Given the description of an element on the screen output the (x, y) to click on. 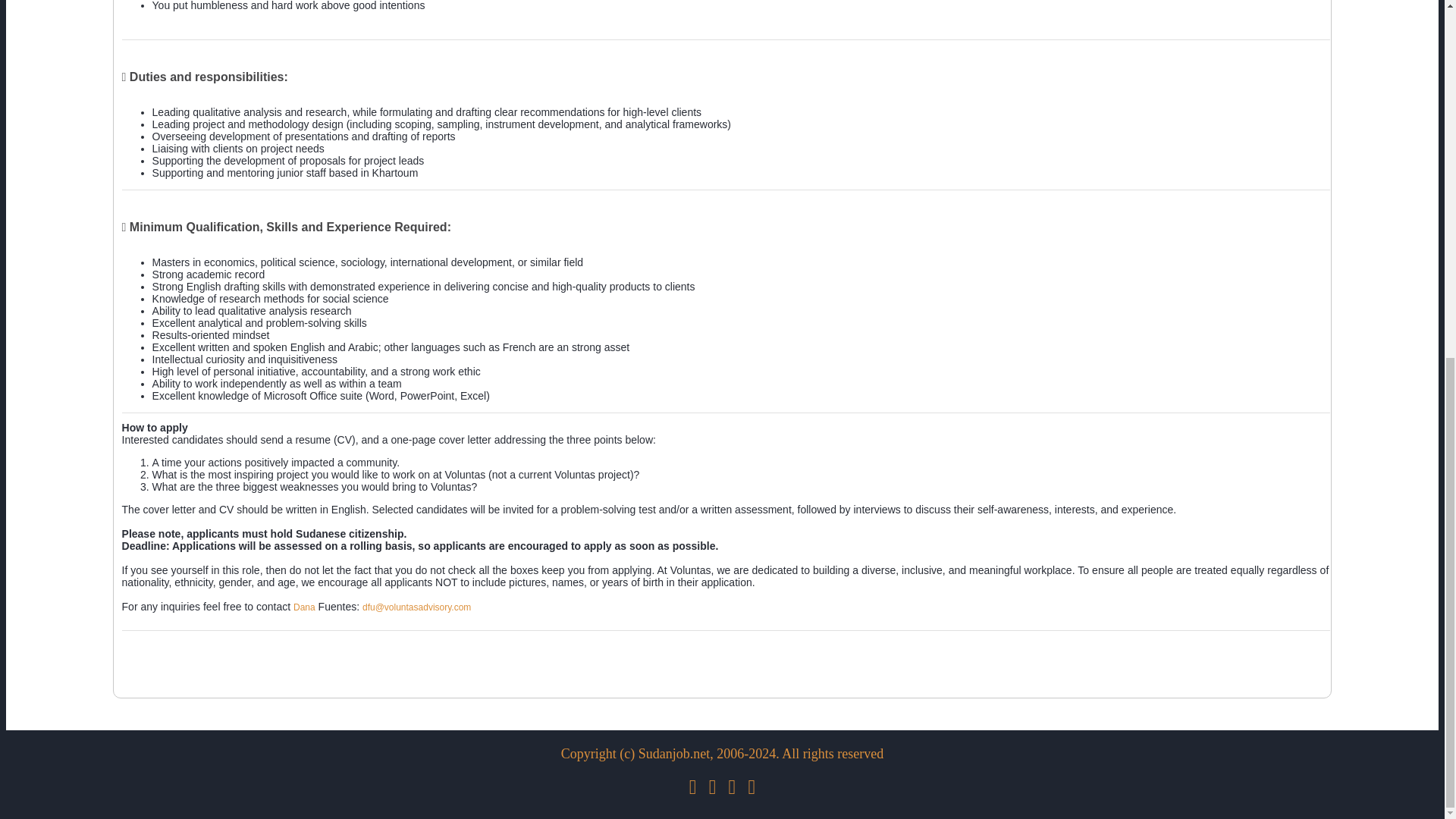
Dana (304, 606)
